Given the description of an element on the screen output the (x, y) to click on. 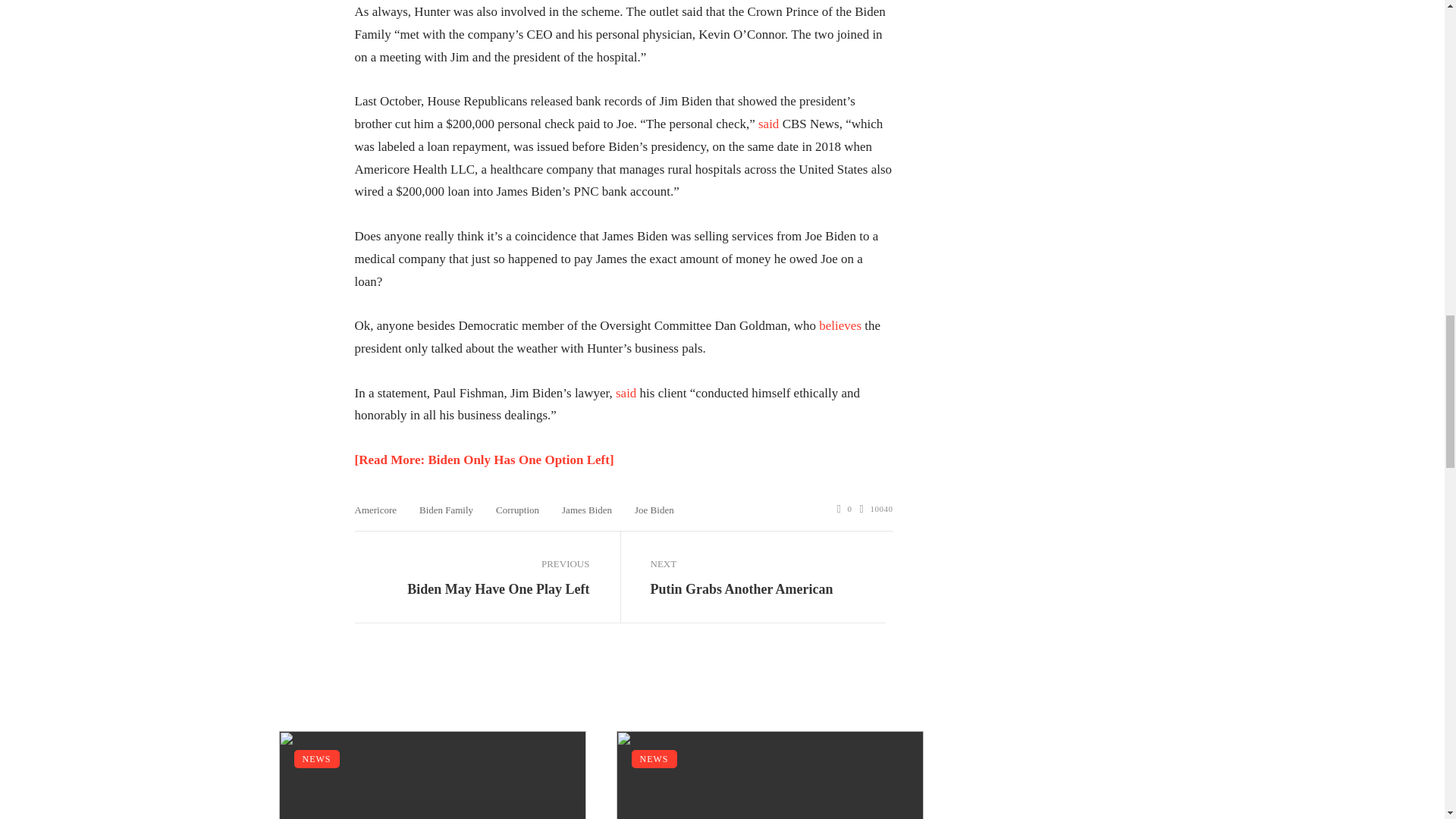
Biden Family (446, 509)
10040 (876, 509)
said (768, 124)
PREVIOUS (472, 564)
Joe Biden (654, 509)
said (625, 392)
0 (844, 509)
Corruption (517, 509)
Americore (376, 509)
James Biden (586, 509)
